Given the description of an element on the screen output the (x, y) to click on. 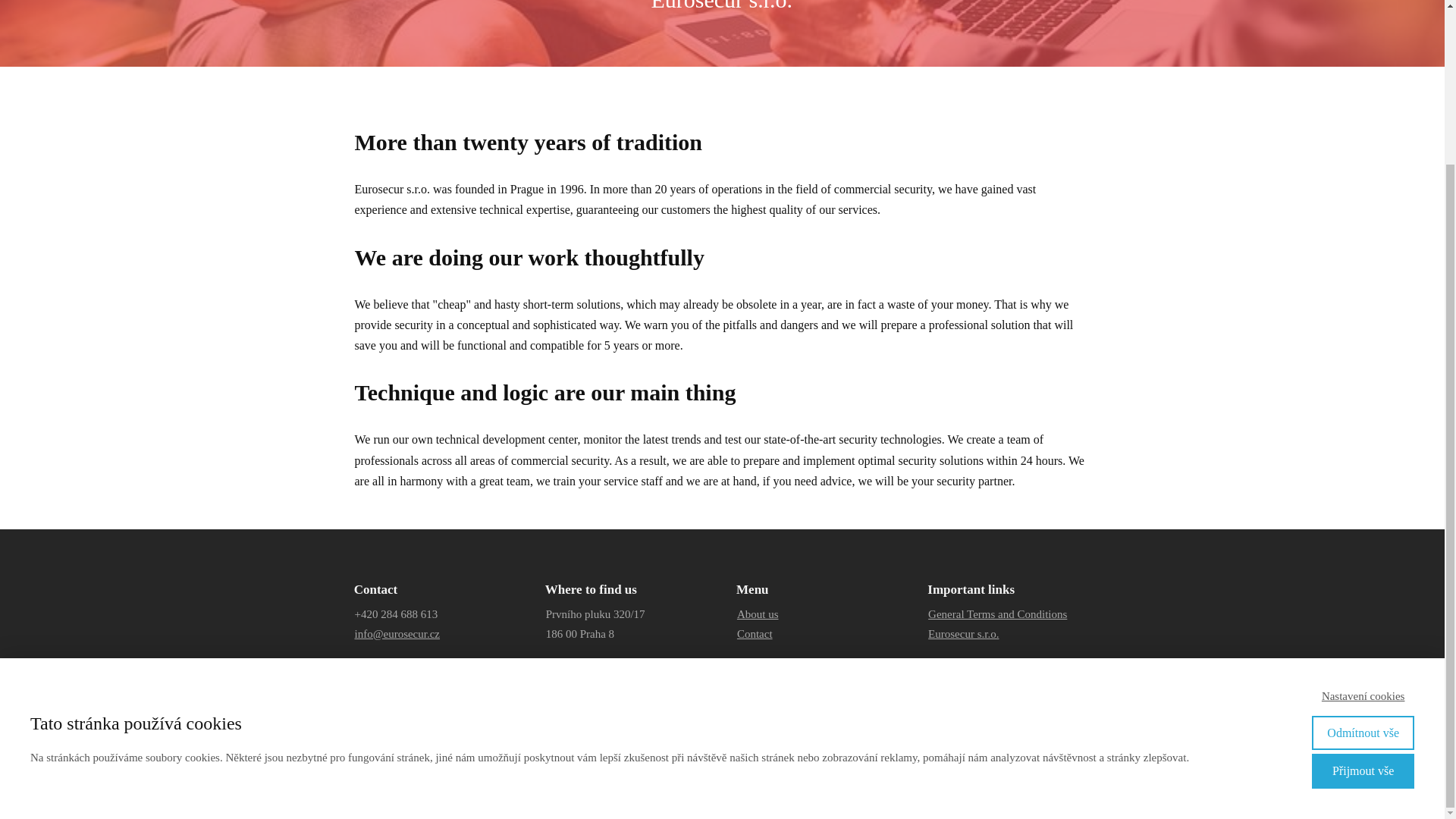
General Terms and Conditions Eurosecur s.r.o. (997, 623)
Contact (754, 633)
About us (757, 613)
